Given the description of an element on the screen output the (x, y) to click on. 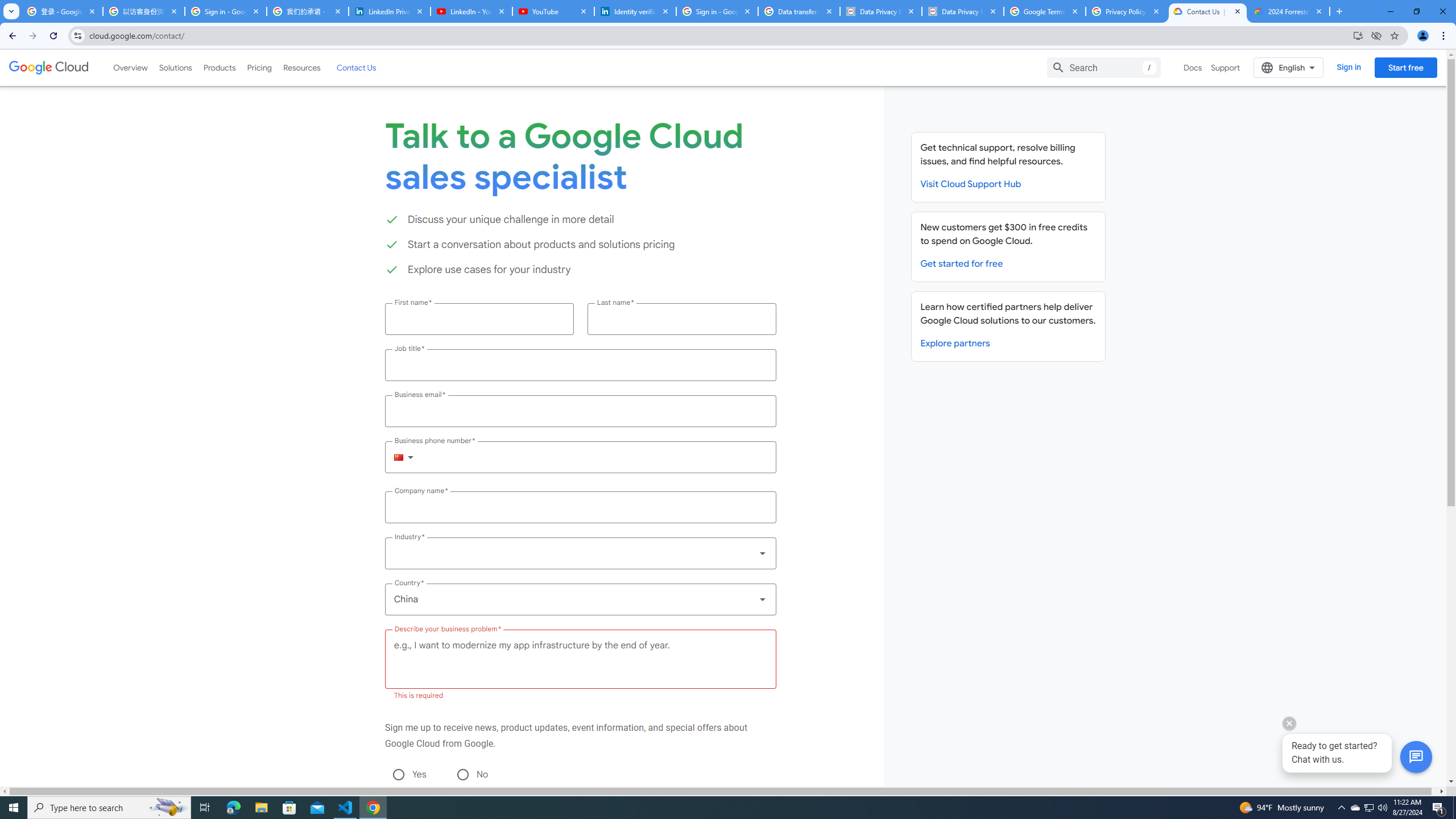
Industry * (580, 553)
Data Privacy Framework (963, 11)
Country * (580, 599)
Solutions (175, 67)
Describe your business problem * (580, 658)
Business phone number * (594, 457)
